Given the description of an element on the screen output the (x, y) to click on. 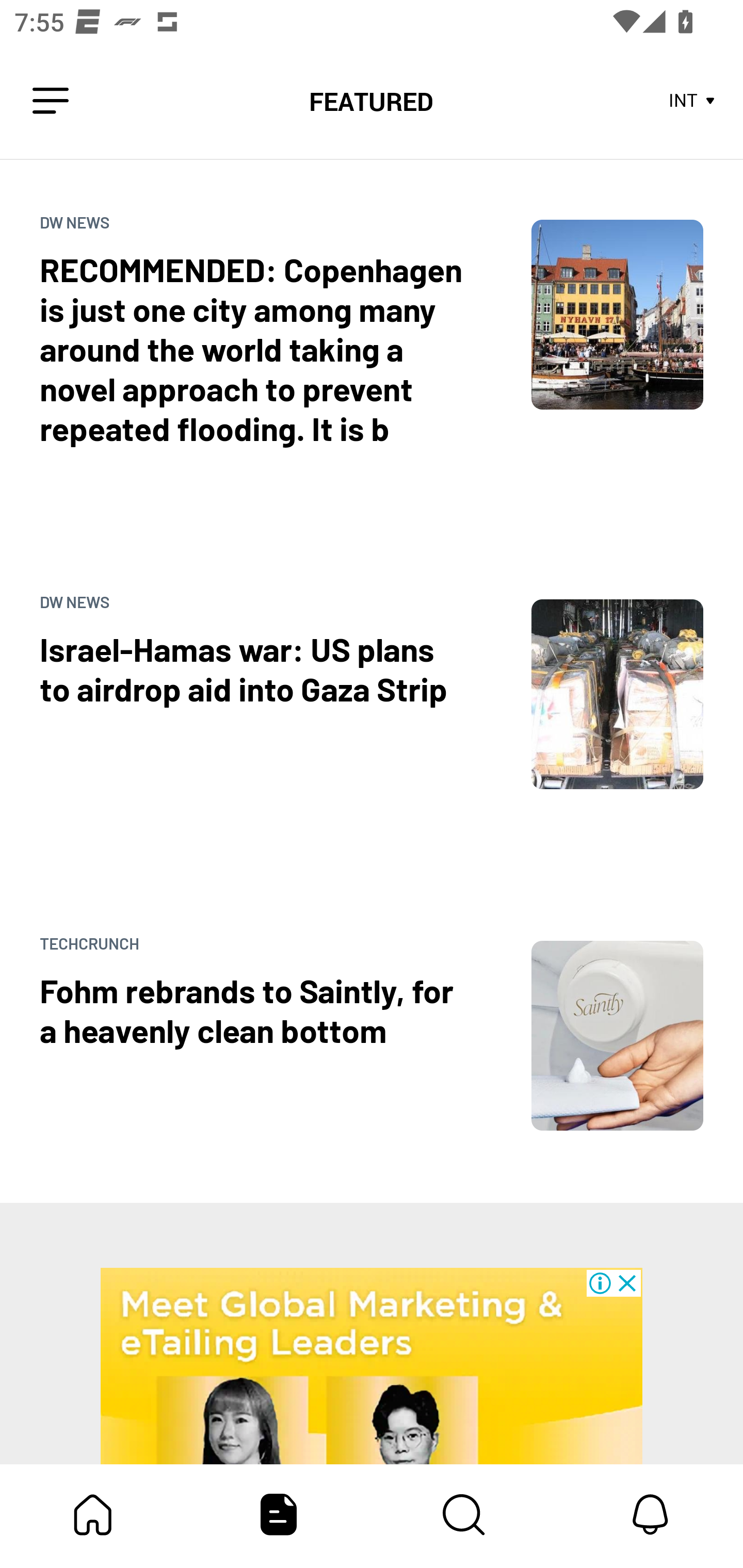
Leading Icon (50, 101)
INT Store Area (692, 101)
My Bundle (92, 1514)
Content Store (464, 1514)
Notifications (650, 1514)
